Given the description of an element on the screen output the (x, y) to click on. 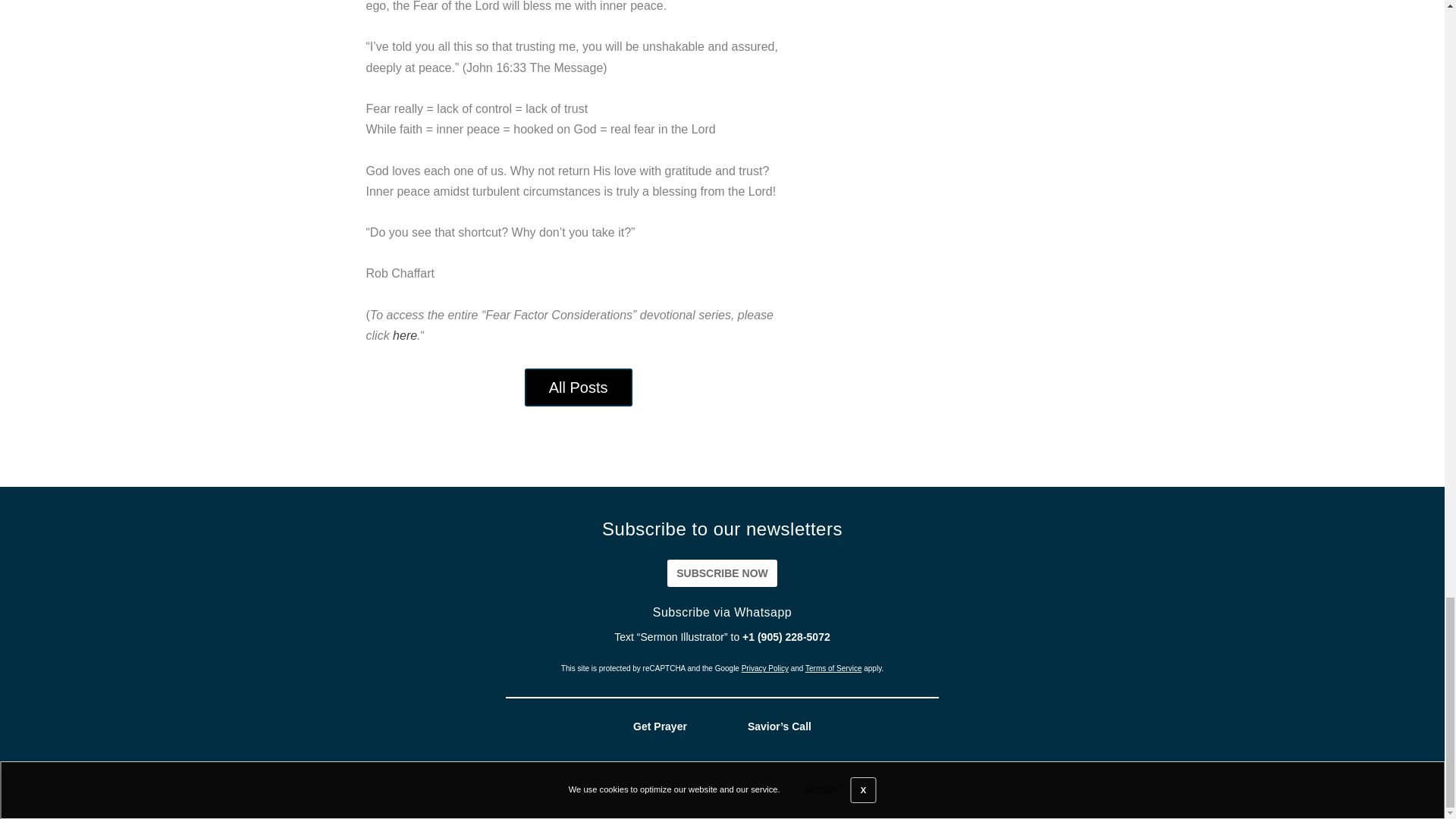
Get Prayer (659, 726)
Contact Us (1387, 793)
Answers2Prayer (873, 793)
Subscribe now (721, 573)
Subscribe now (721, 573)
Terms of Service (833, 668)
All Posts (577, 387)
Privacy Policy (765, 668)
here (404, 335)
